Given the description of an element on the screen output the (x, y) to click on. 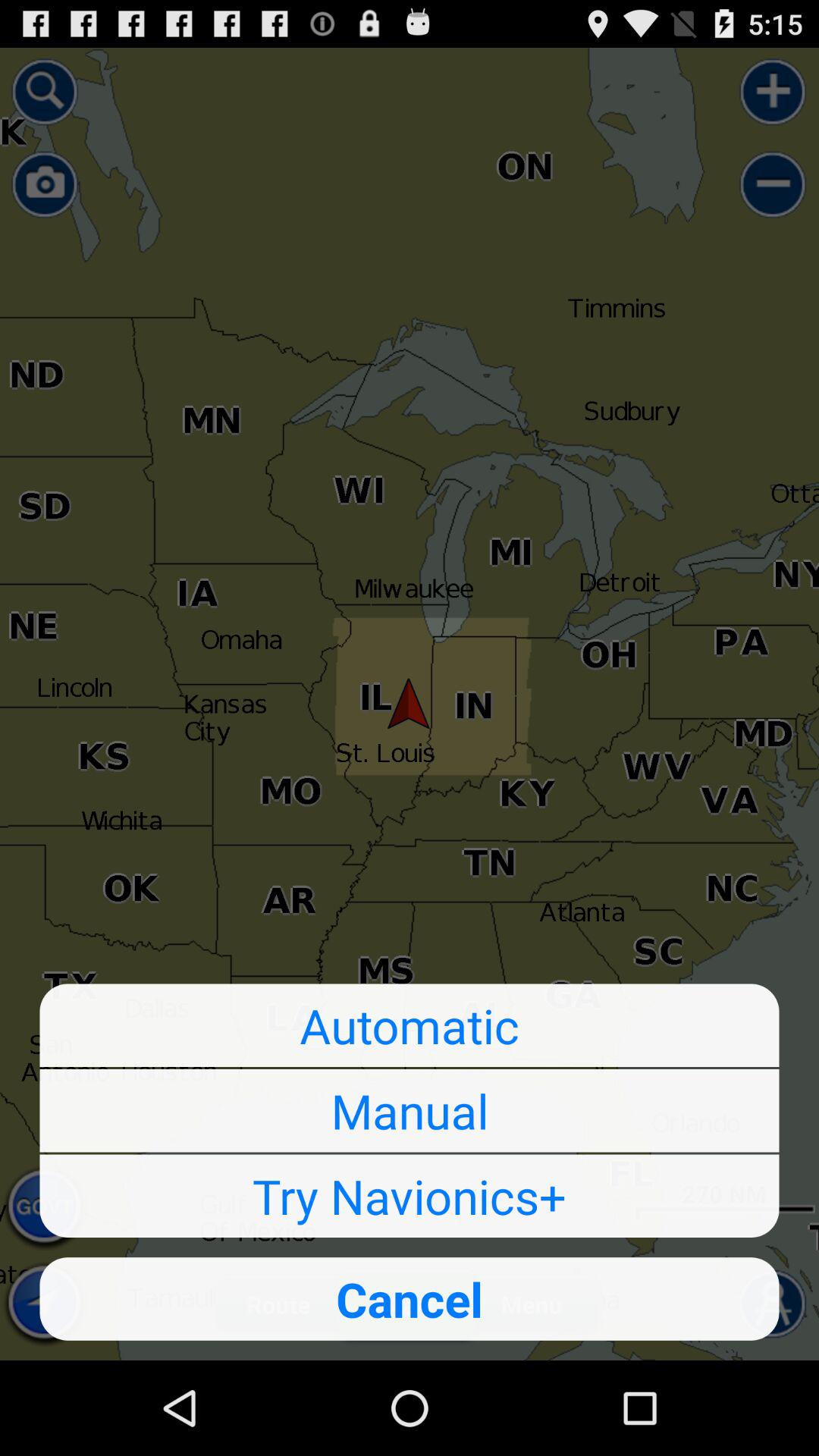
choose button above the manual (409, 1024)
